Given the description of an element on the screen output the (x, y) to click on. 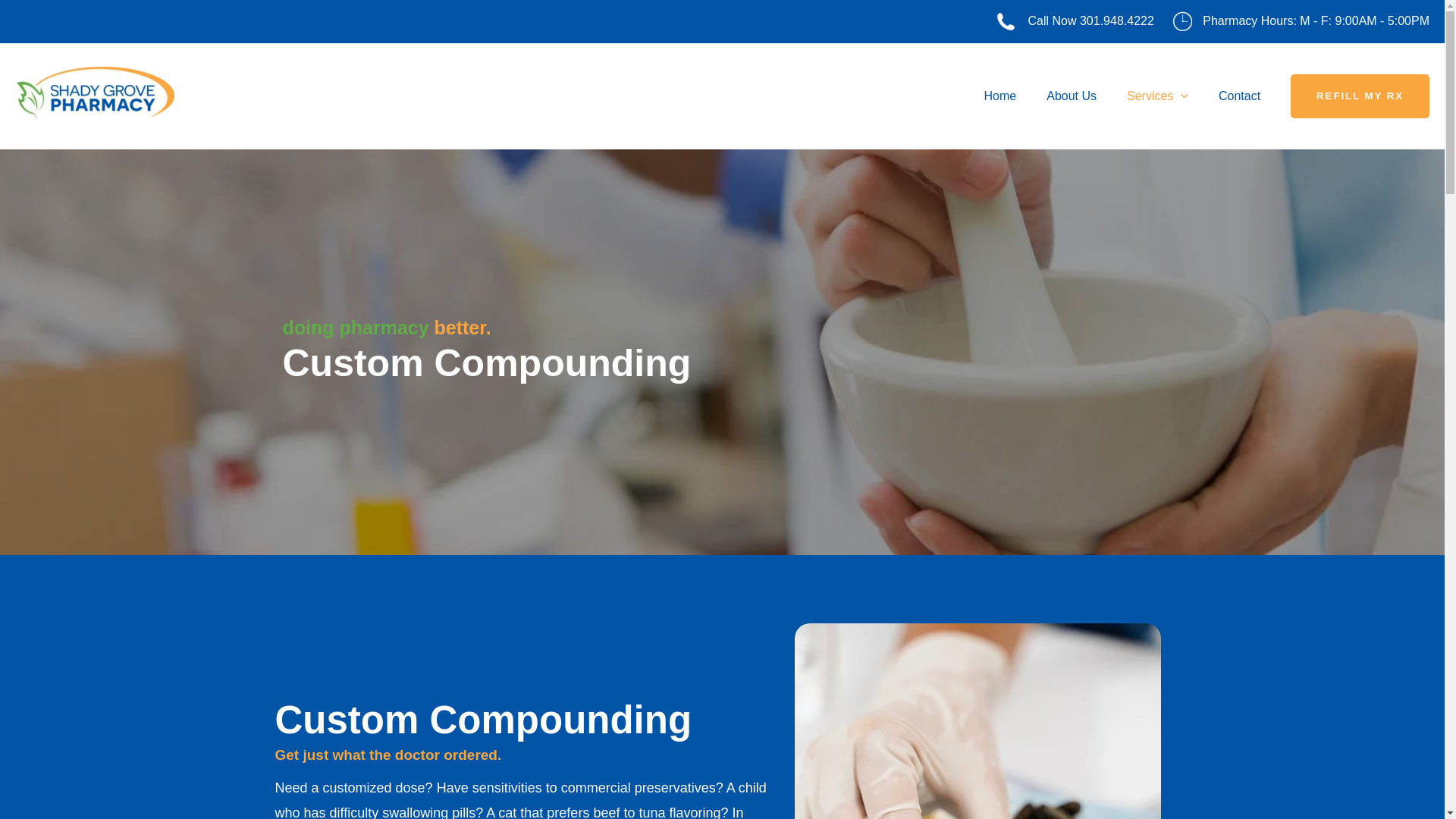
Call Now 301.948.4222 (1090, 20)
About Us (1071, 95)
Contact (1239, 95)
REFILL MY RX (1359, 95)
Services (1158, 95)
Home (1000, 95)
